Given the description of an element on the screen output the (x, y) to click on. 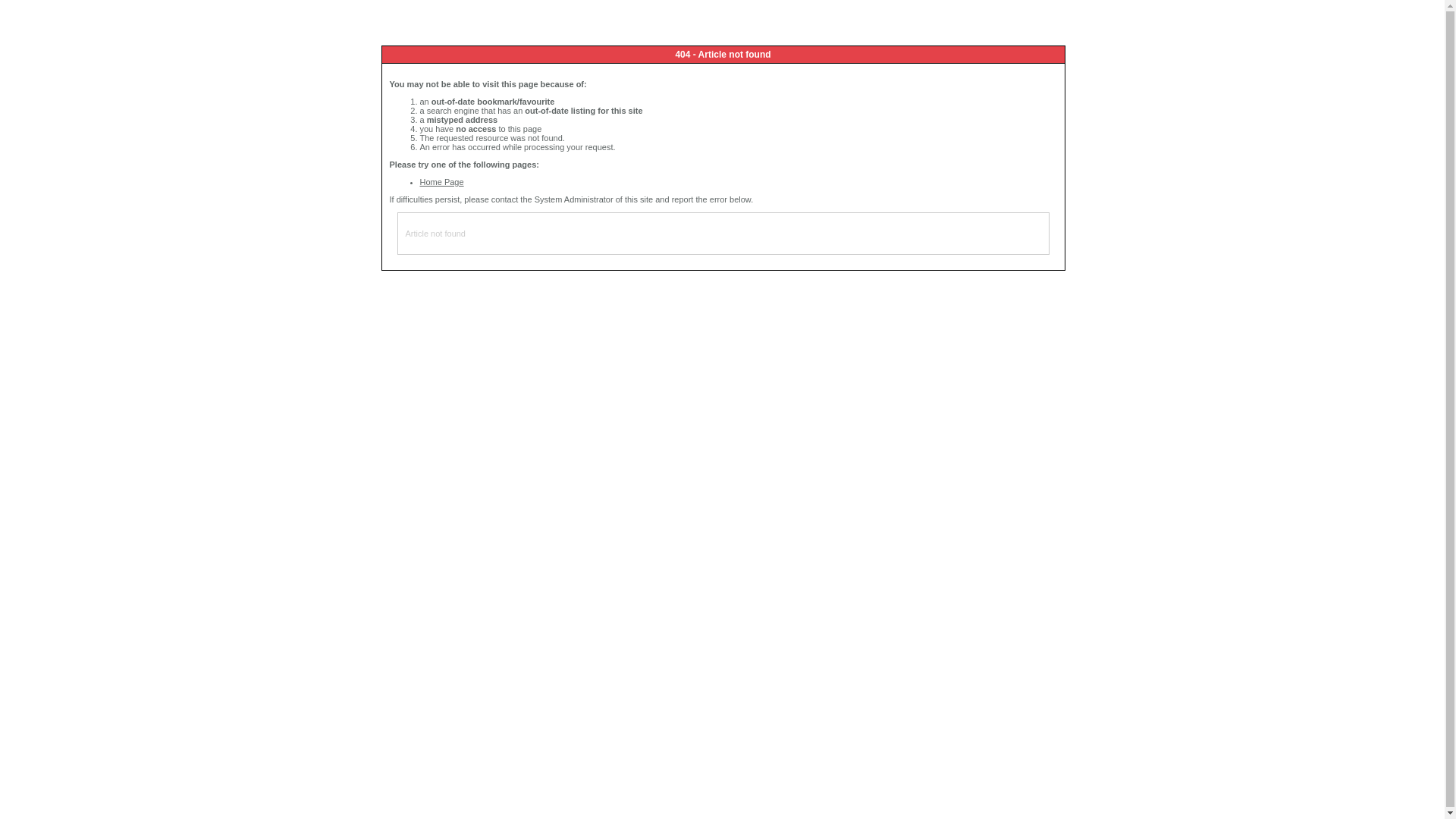
Home Page Element type: text (442, 181)
